Given the description of an element on the screen output the (x, y) to click on. 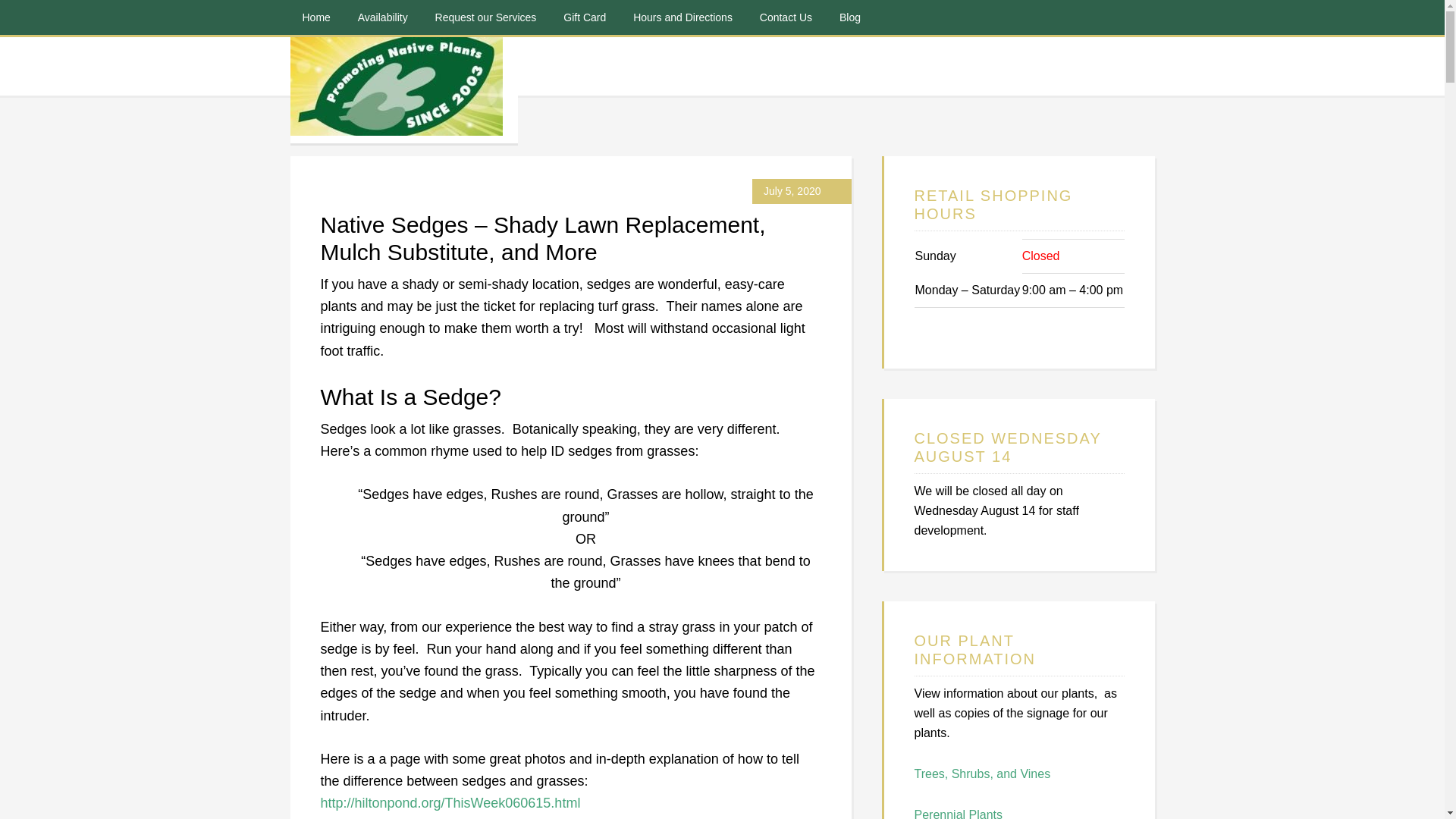
Perennial Plants (958, 813)
Blog (849, 17)
Trees, Shrubs, and Vines (982, 773)
Request our Services (485, 17)
EDGE OF THE WOODS NATIVE PLANT NURSERY, LLC (402, 89)
Contact Us (786, 17)
Availability (383, 17)
Gift Card (584, 17)
Hours and Directions (682, 17)
Home (315, 17)
